Given the description of an element on the screen output the (x, y) to click on. 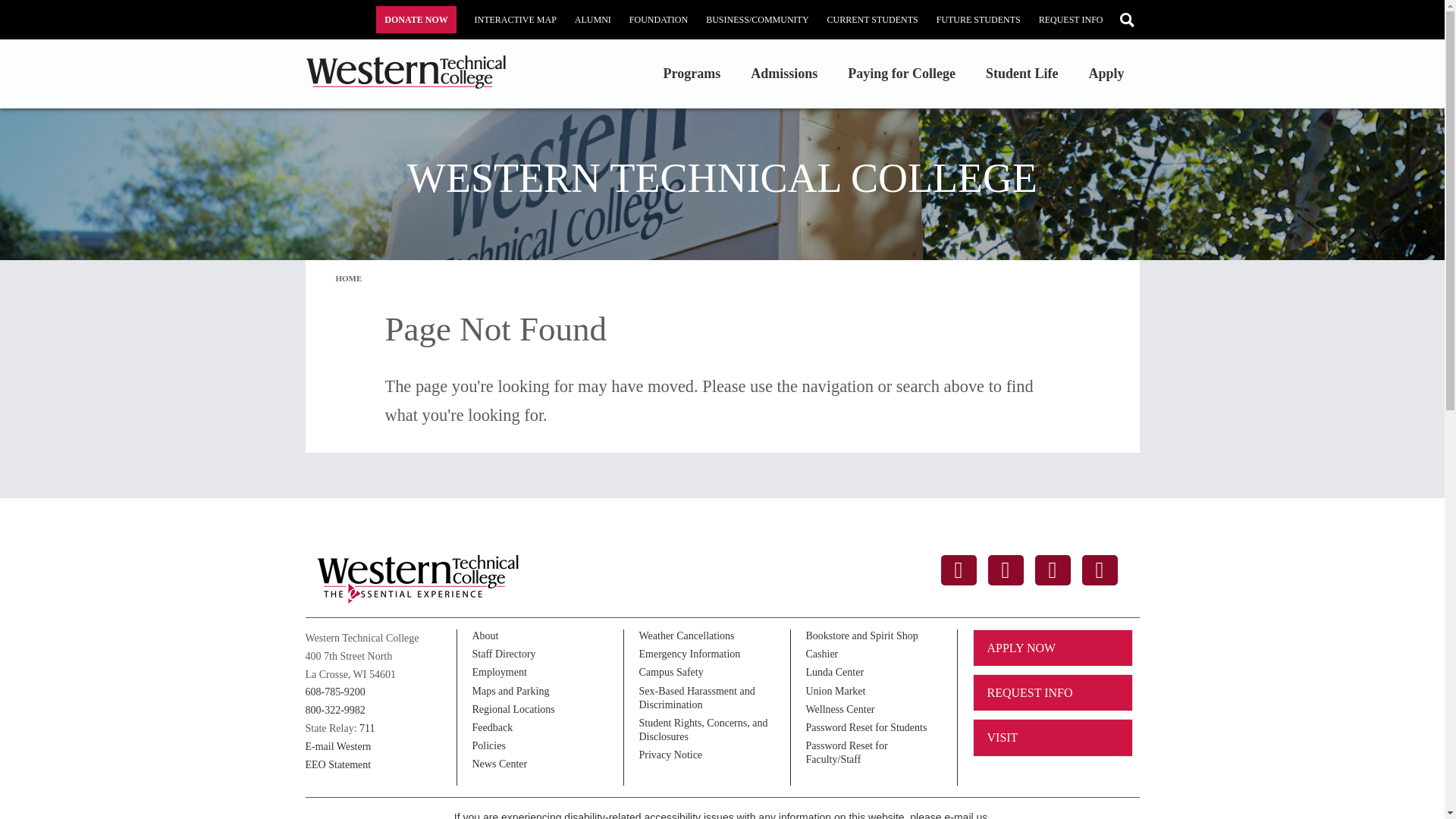
Student Life (1021, 79)
DONATE NOW (415, 19)
Search (1127, 19)
Admissions (783, 79)
Apply (1105, 79)
Paying for College (901, 79)
ALUMNI (593, 19)
Enter the terms you wish to search for. (1127, 19)
Programs (692, 79)
Search (1127, 19)
